Given the description of an element on the screen output the (x, y) to click on. 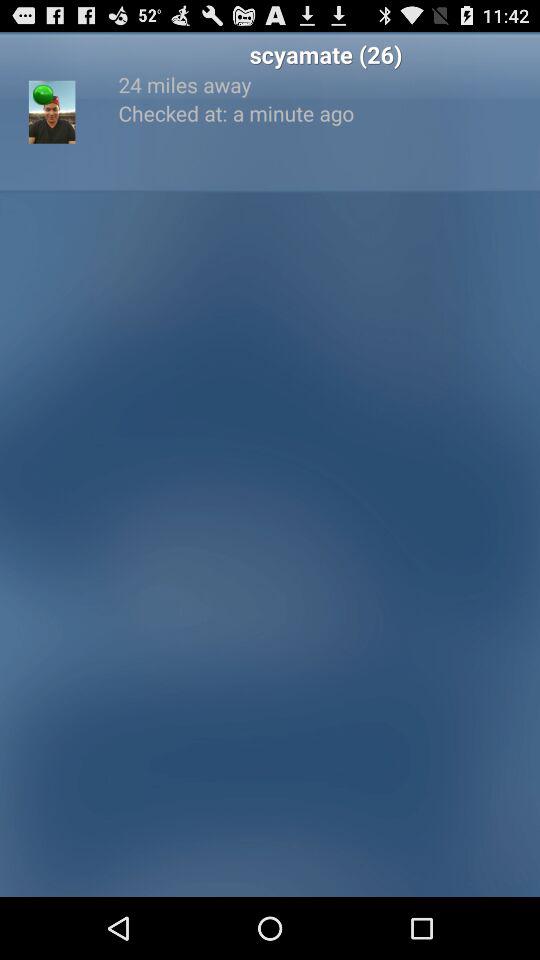
press app below 24 miles away app (325, 112)
